Given the description of an element on the screen output the (x, y) to click on. 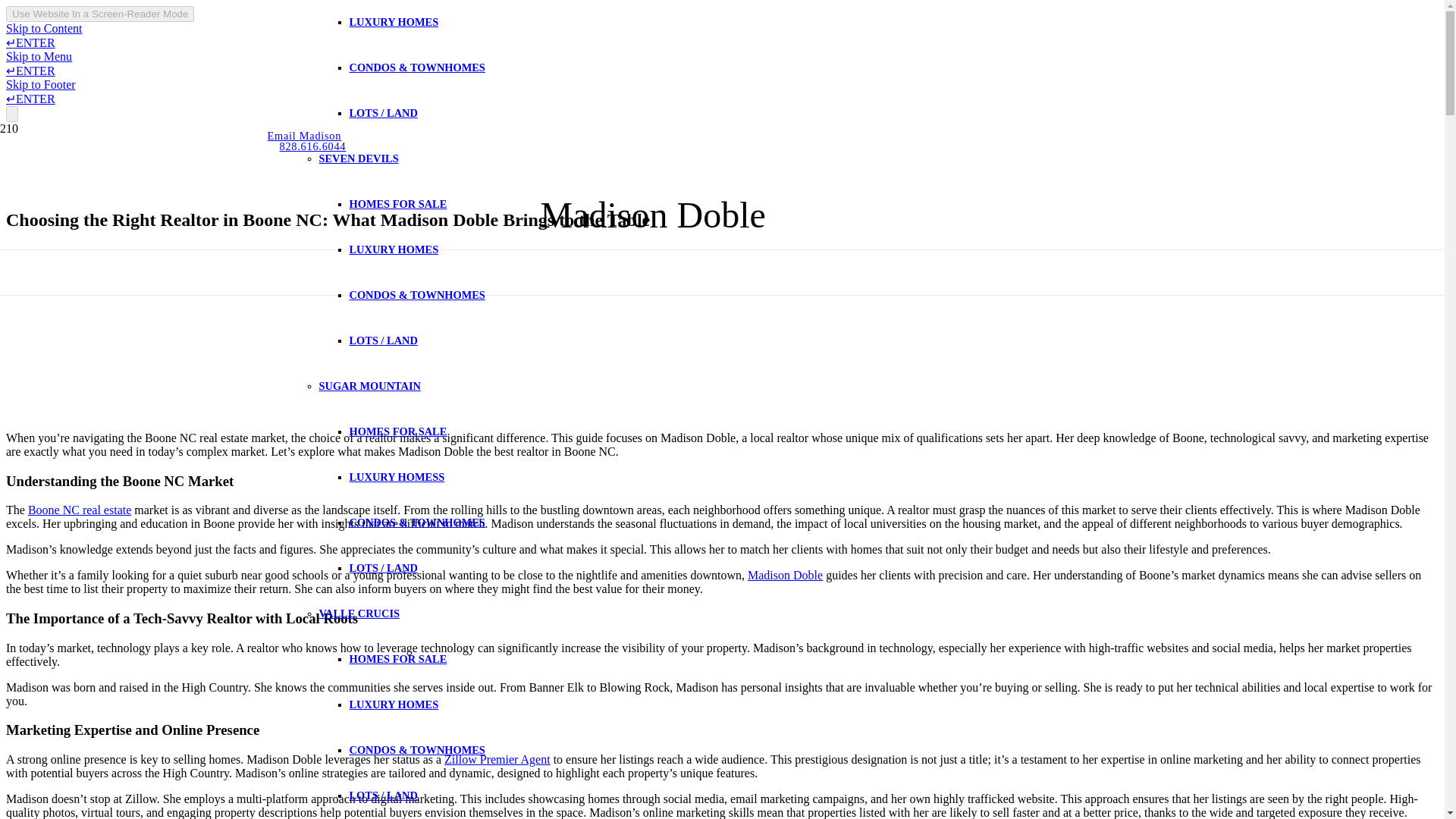
828.616.6044 (312, 146)
Email Madison (303, 135)
